Given the description of an element on the screen output the (x, y) to click on. 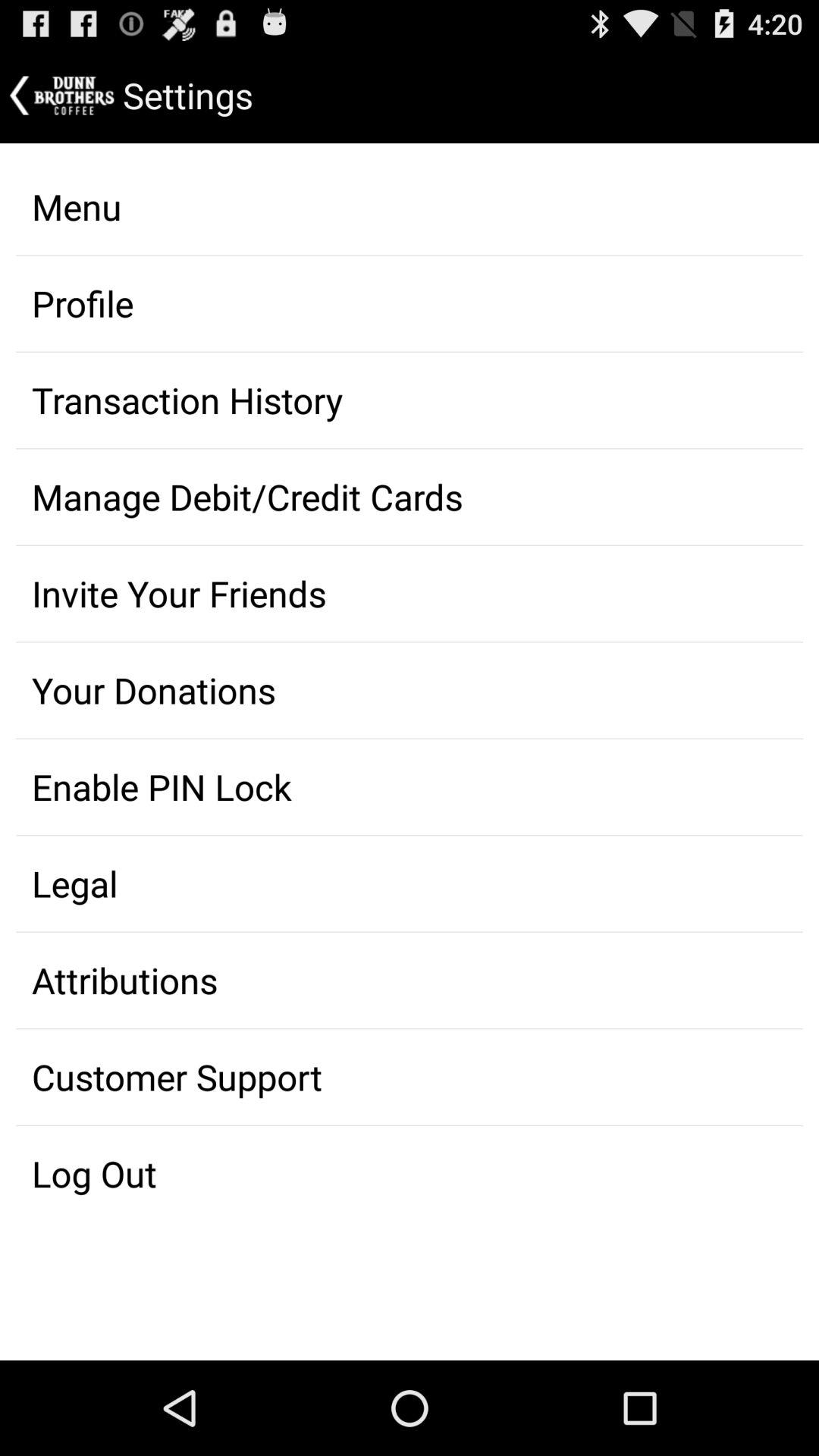
flip to transaction history item (409, 400)
